Given the description of an element on the screen output the (x, y) to click on. 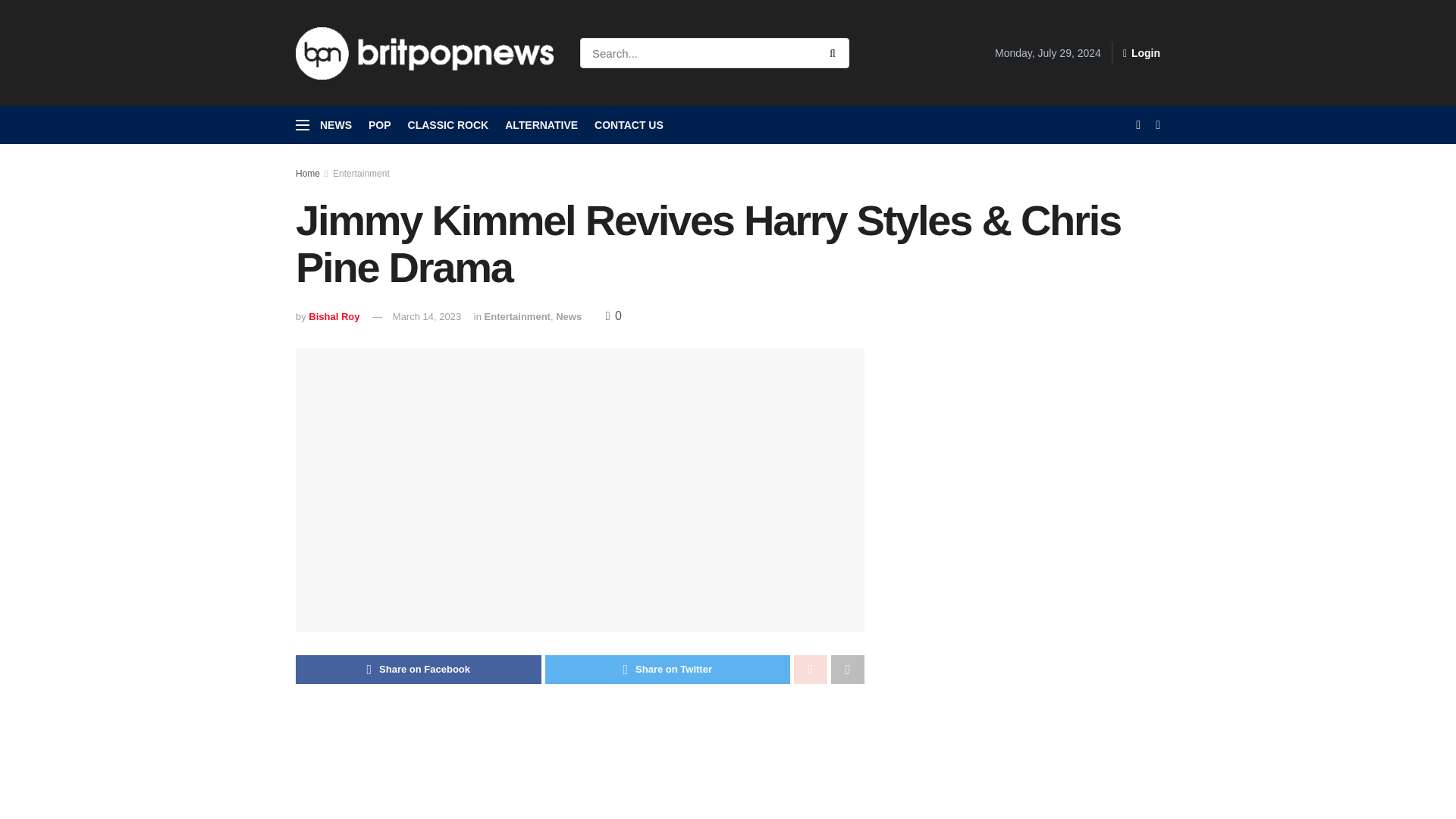
Entertainment (361, 173)
Login (1141, 53)
March 14, 2023 (427, 316)
CLASSIC ROCK (448, 125)
0 (613, 315)
Bishal Roy (333, 316)
Home (307, 173)
CONTACT US (628, 125)
Entertainment (517, 316)
Share on Facebook (418, 669)
News (568, 316)
ALTERNATIVE (541, 125)
Share on Twitter (667, 669)
